Given the description of an element on the screen output the (x, y) to click on. 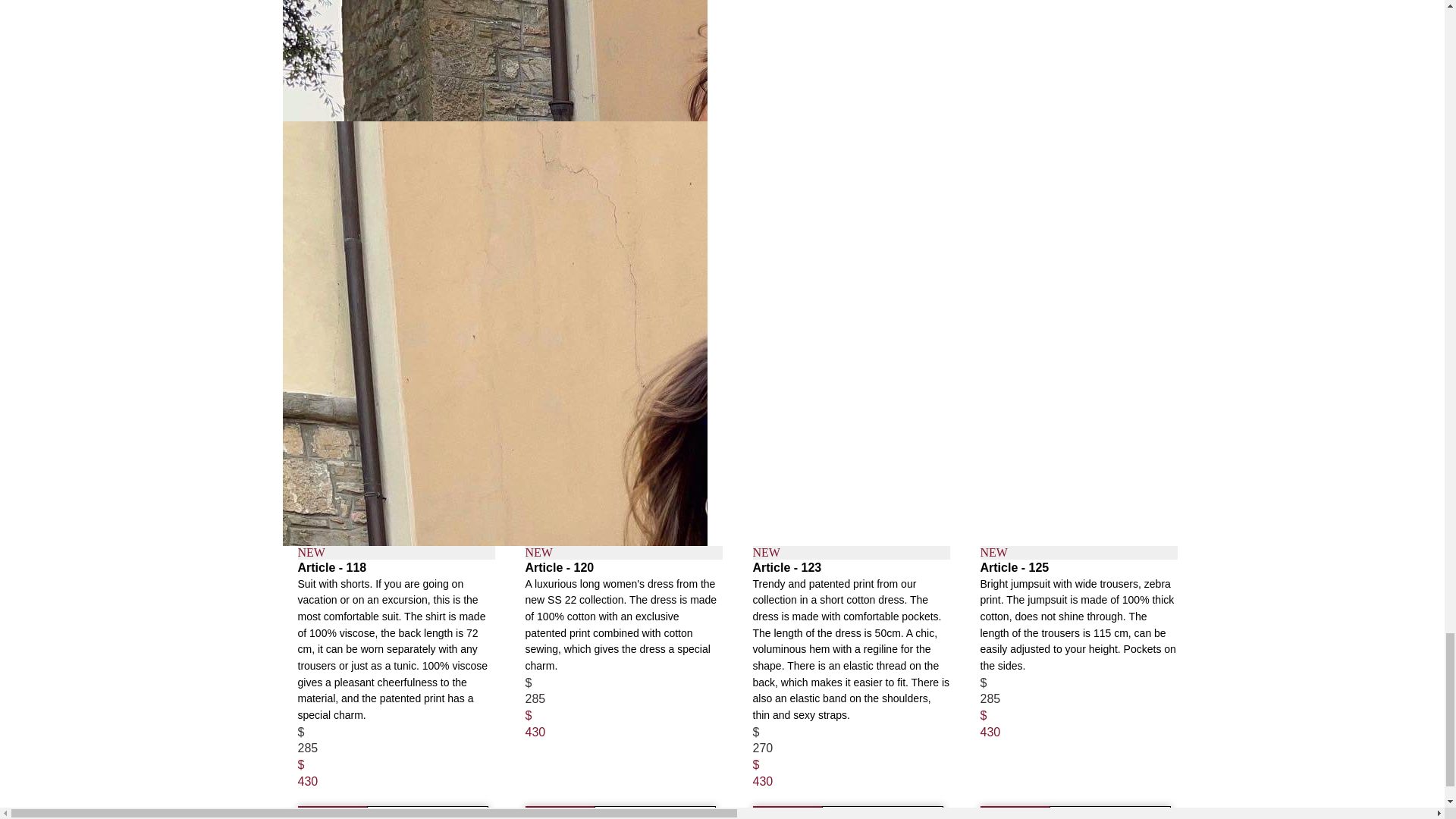
More (1014, 812)
More (787, 812)
Buy in one click (426, 812)
More (559, 812)
Buy in one click (654, 812)
Buy in one click (1109, 812)
More (331, 812)
Buy in one click (882, 812)
